Given the description of an element on the screen output the (x, y) to click on. 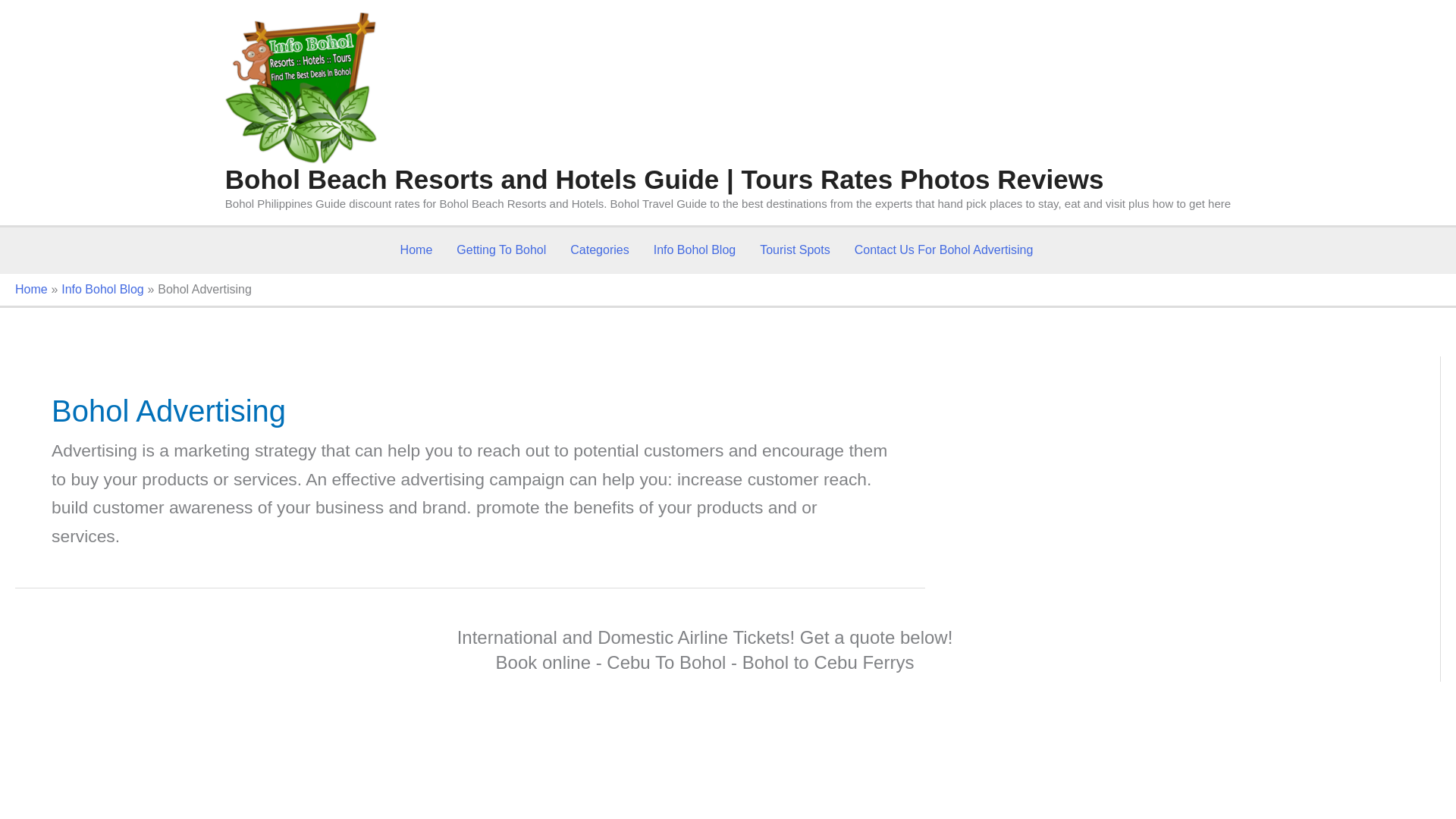
Contact Us for Advertising on this web site (944, 249)
Contact Us For Bohol Advertising (944, 249)
Tourist Spots (794, 249)
Home (416, 249)
Info Bohol Blog (695, 249)
Categories (598, 249)
Bohol Most Popular Tourist Spots (794, 249)
How to Get To Bohol Philippines (500, 249)
About Bohol Philippines (416, 249)
Getting To Bohol (500, 249)
